Given the description of an element on the screen output the (x, y) to click on. 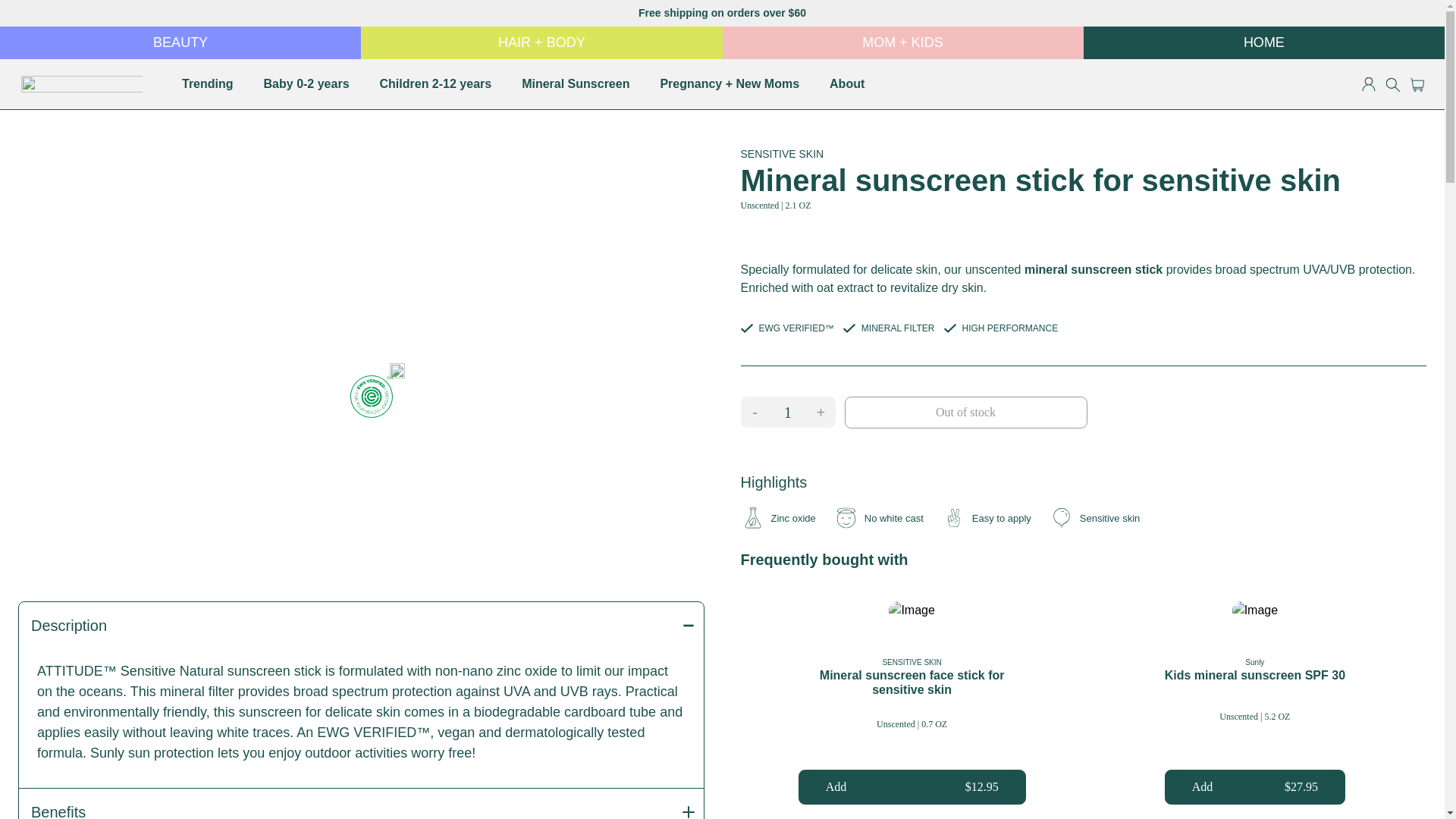
BEAUTY (180, 42)
Mineral Sunscreen (575, 83)
Trending (207, 83)
Children 2-12 years (435, 83)
Baby 0-2 years (306, 83)
